Given the description of an element on the screen output the (x, y) to click on. 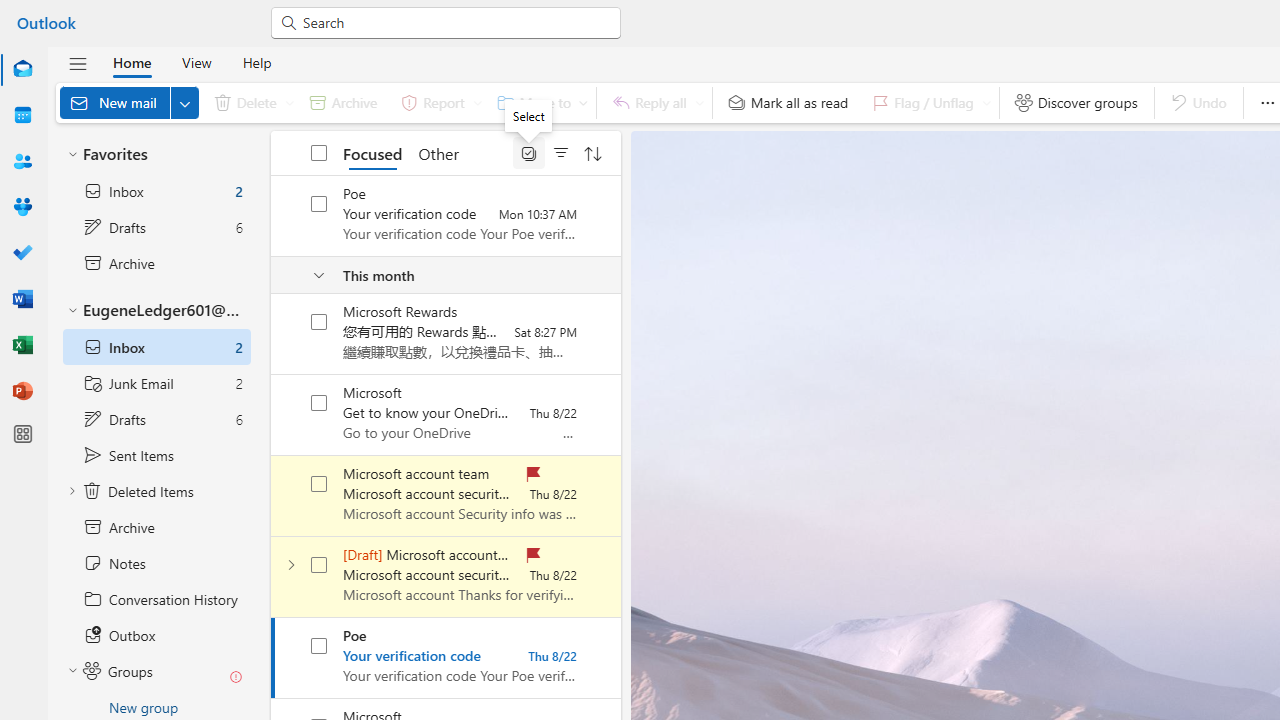
Mail (22, 69)
Excel (22, 345)
Expand to see more respond options (699, 102)
Other (438, 152)
Mark as unread (273, 577)
Sorted: By Date (593, 152)
AutomationID: checkbox-124 (319, 402)
More apps (22, 434)
Word (22, 299)
PowerPoint (22, 390)
Calendar (22, 115)
Filter (561, 152)
To Do (22, 254)
